Given the description of an element on the screen output the (x, y) to click on. 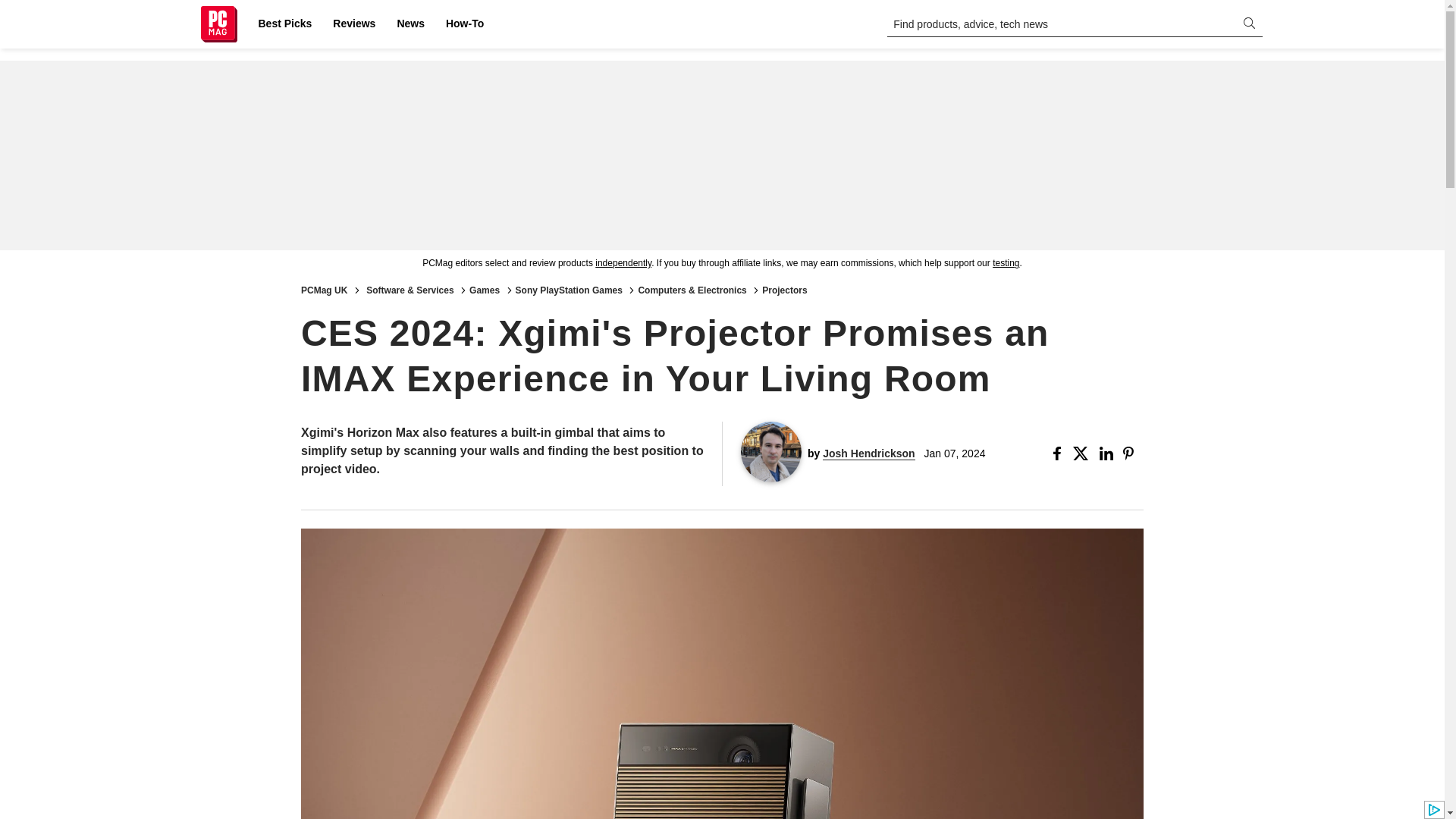
Share this Story on Pinterest (1132, 453)
Share this Story on Linkedin (1107, 453)
Share this Story on X (1083, 453)
Share this Story on Facebook (1059, 453)
Best Picks (284, 24)
